Given the description of an element on the screen output the (x, y) to click on. 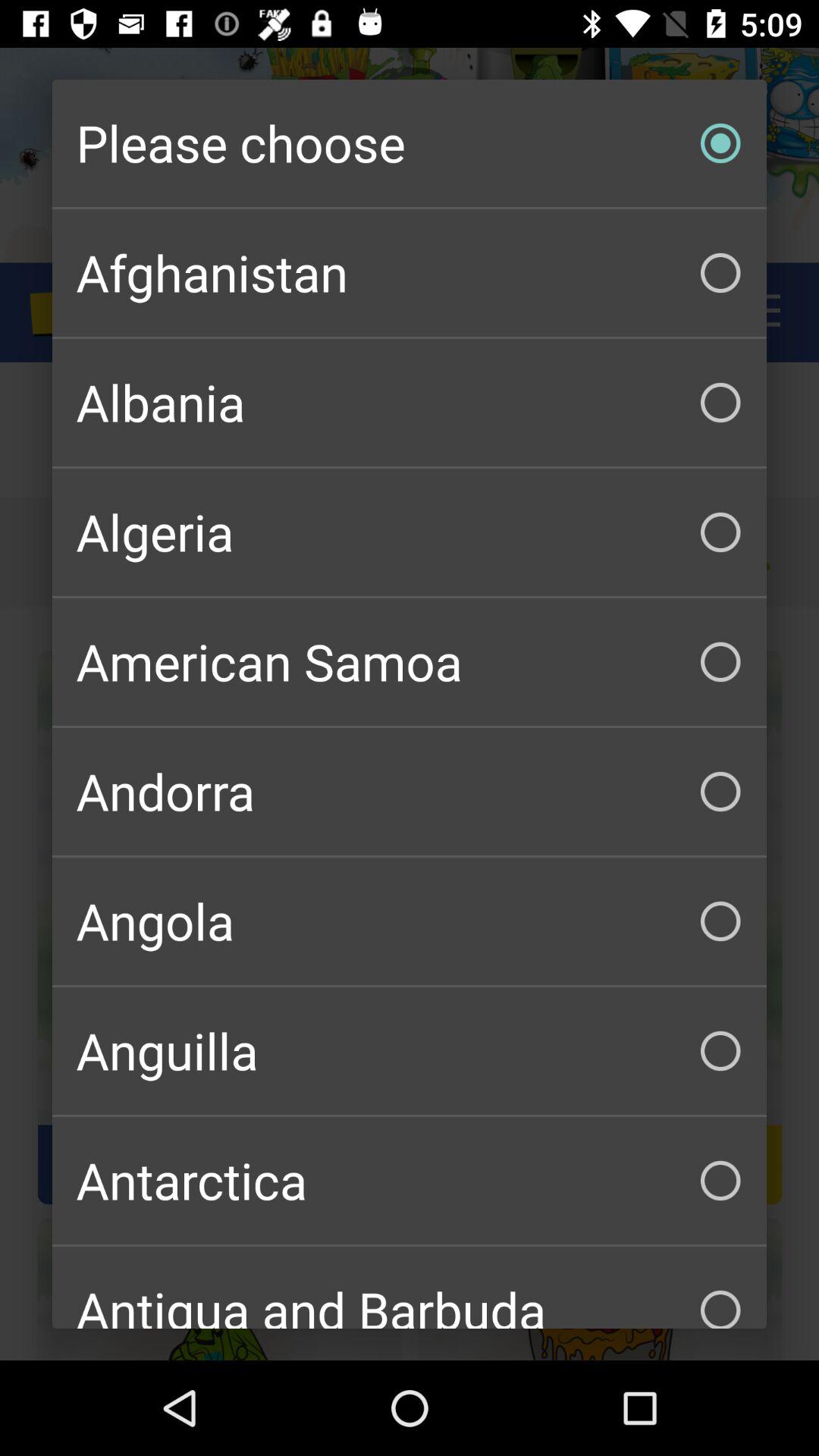
tap the item above the antarctica (409, 1050)
